Given the description of an element on the screen output the (x, y) to click on. 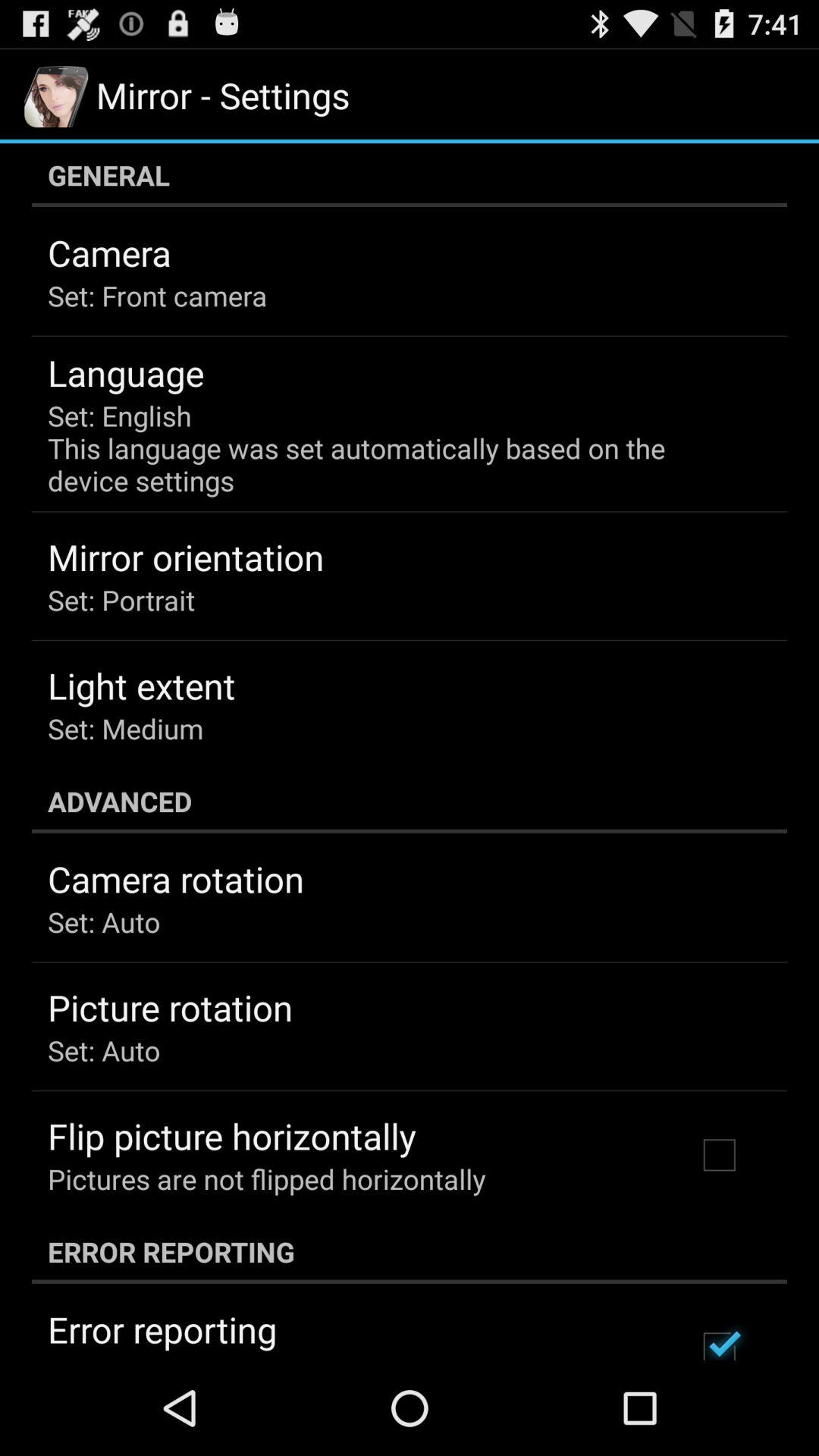
select the mirror orientation app (185, 556)
